Given the description of an element on the screen output the (x, y) to click on. 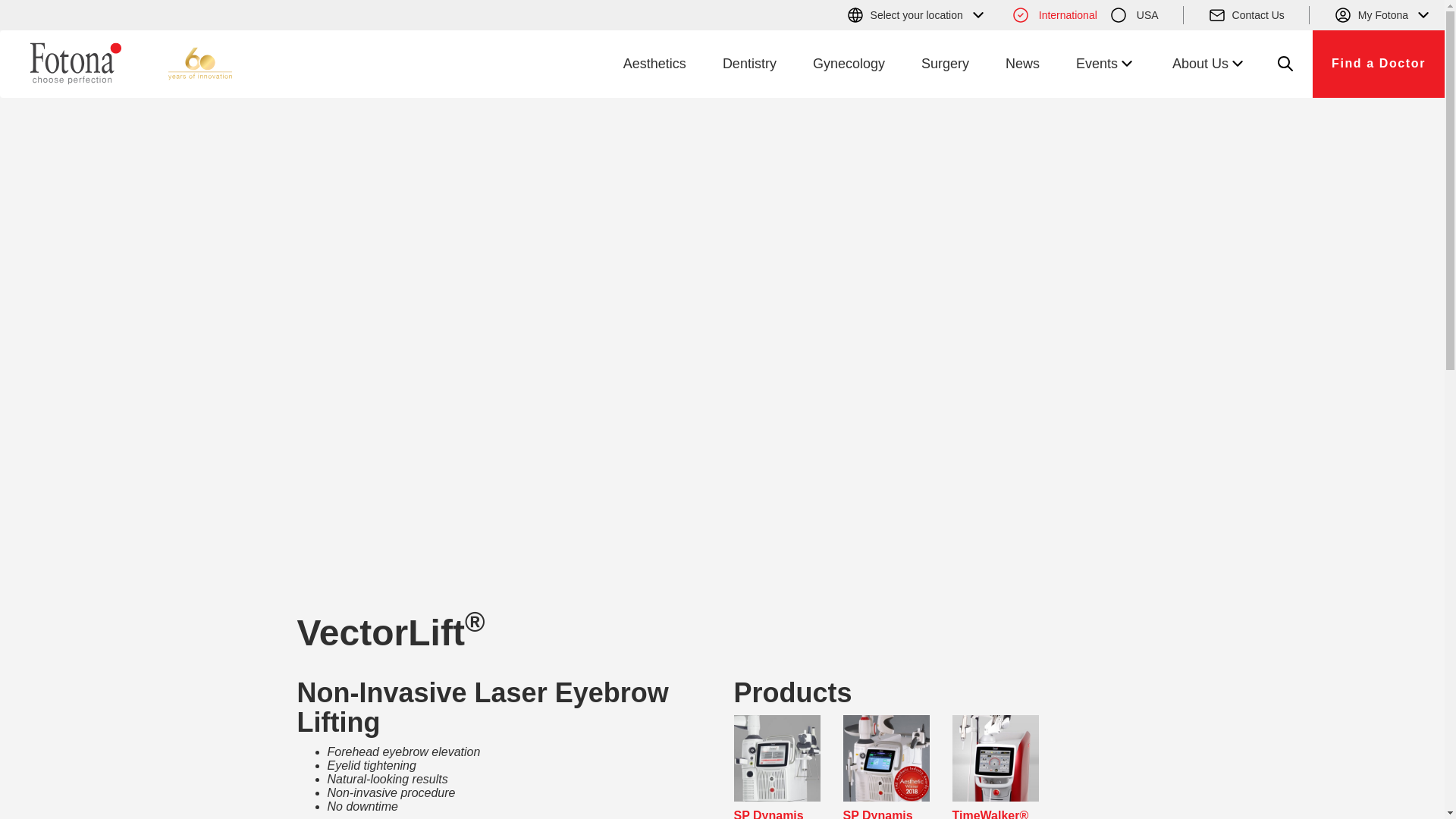
Events (1106, 63)
Dentistry (749, 63)
About Us (1209, 63)
Surgery (944, 63)
USA (1133, 14)
My Fotona (1382, 14)
News (1022, 63)
Select your location (916, 14)
Contact Us (1246, 14)
Gynecology (848, 63)
